Given the description of an element on the screen output the (x, y) to click on. 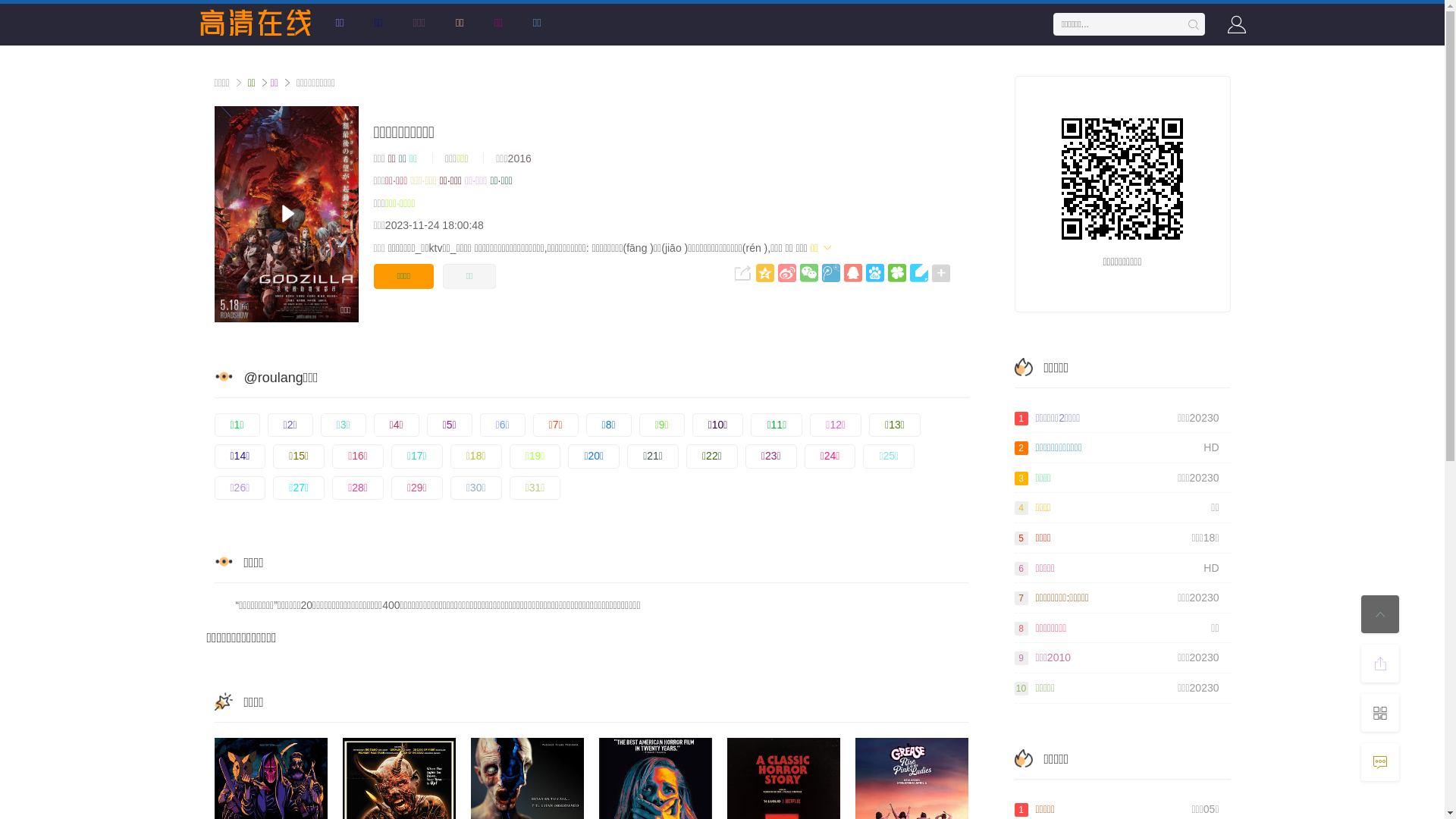
http://www.110455.com/gongchenganli/916.html Element type: hover (1121, 178)
2016 Element type: text (519, 158)
